Given the description of an element on the screen output the (x, y) to click on. 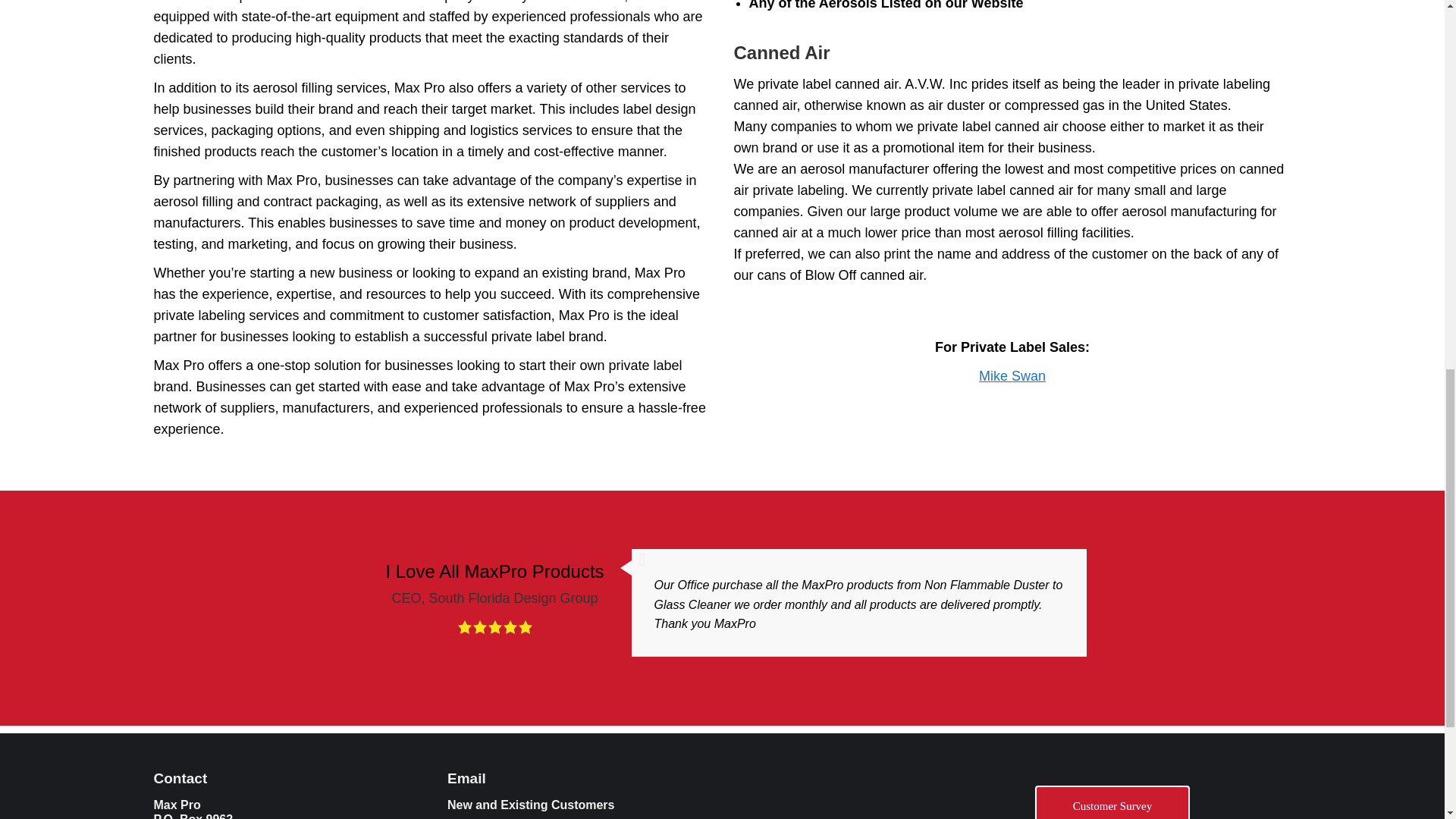
Mike Swan (1011, 376)
Customer Survey (1112, 802)
